Given the description of an element on the screen output the (x, y) to click on. 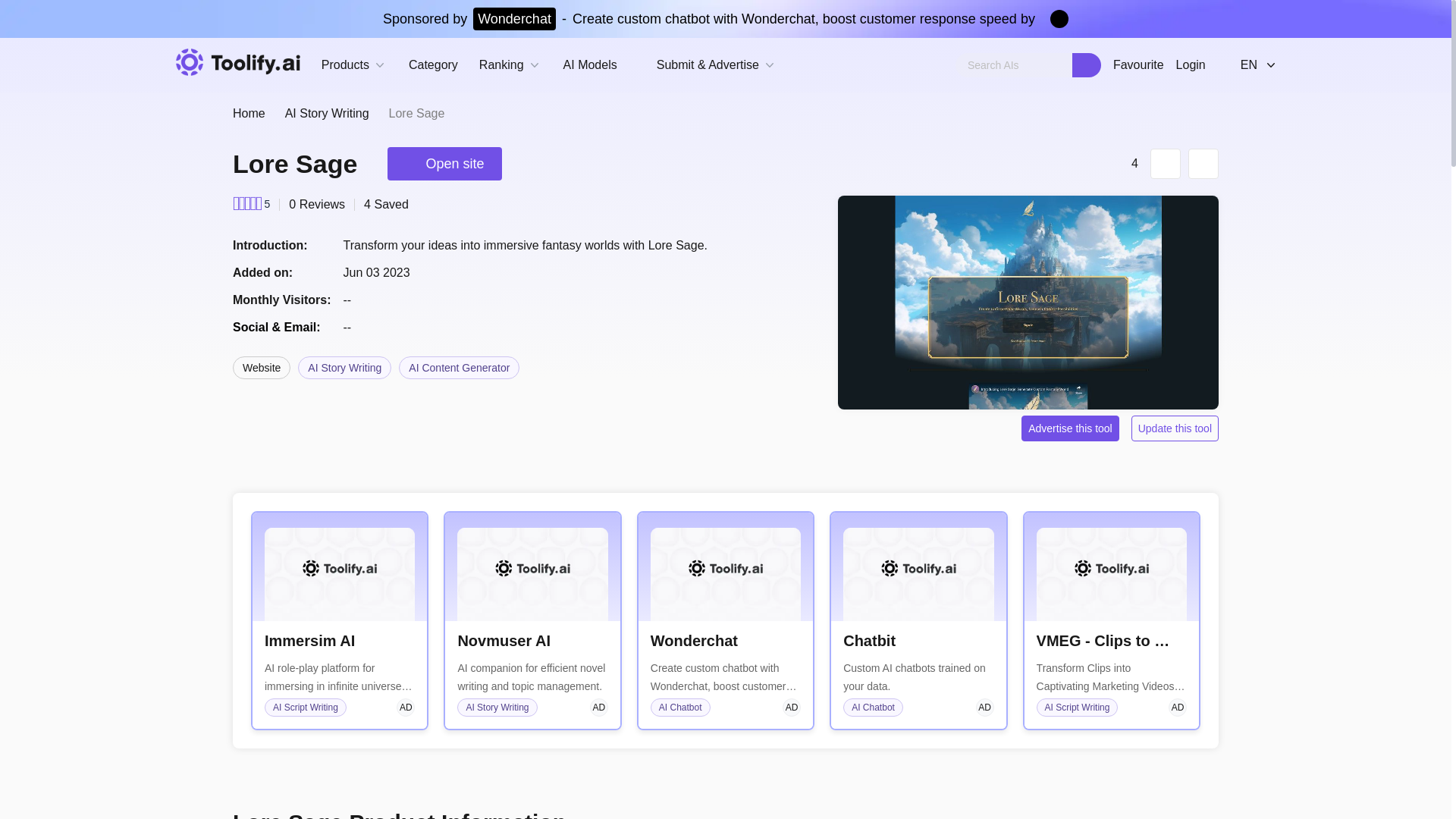
AI Story Writing (327, 113)
Ranking (510, 64)
Update this tool (1174, 428)
Home (248, 113)
Category (433, 64)
Login (1190, 65)
AI Content Generator (458, 367)
Wonderchat (694, 640)
EN (1246, 64)
Open site (444, 163)
